Given the description of an element on the screen output the (x, y) to click on. 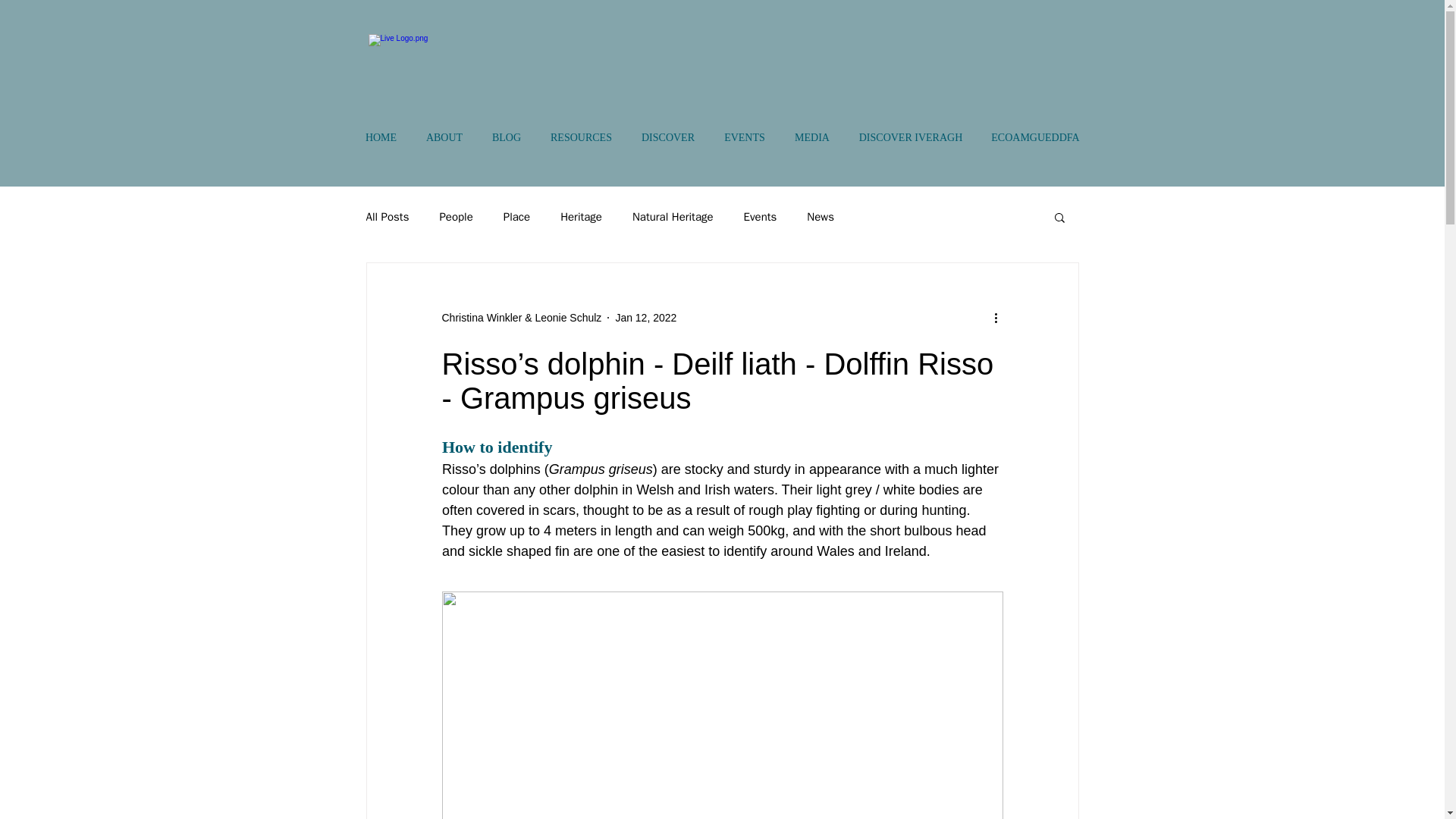
BLOG (506, 137)
Place (516, 216)
Heritage (581, 216)
DISCOVER IVERAGH (910, 137)
People (455, 216)
All Posts (387, 216)
HOME (380, 137)
News (820, 216)
Natural Heritage (672, 216)
Jan 12, 2022 (645, 316)
